Given the description of an element on the screen output the (x, y) to click on. 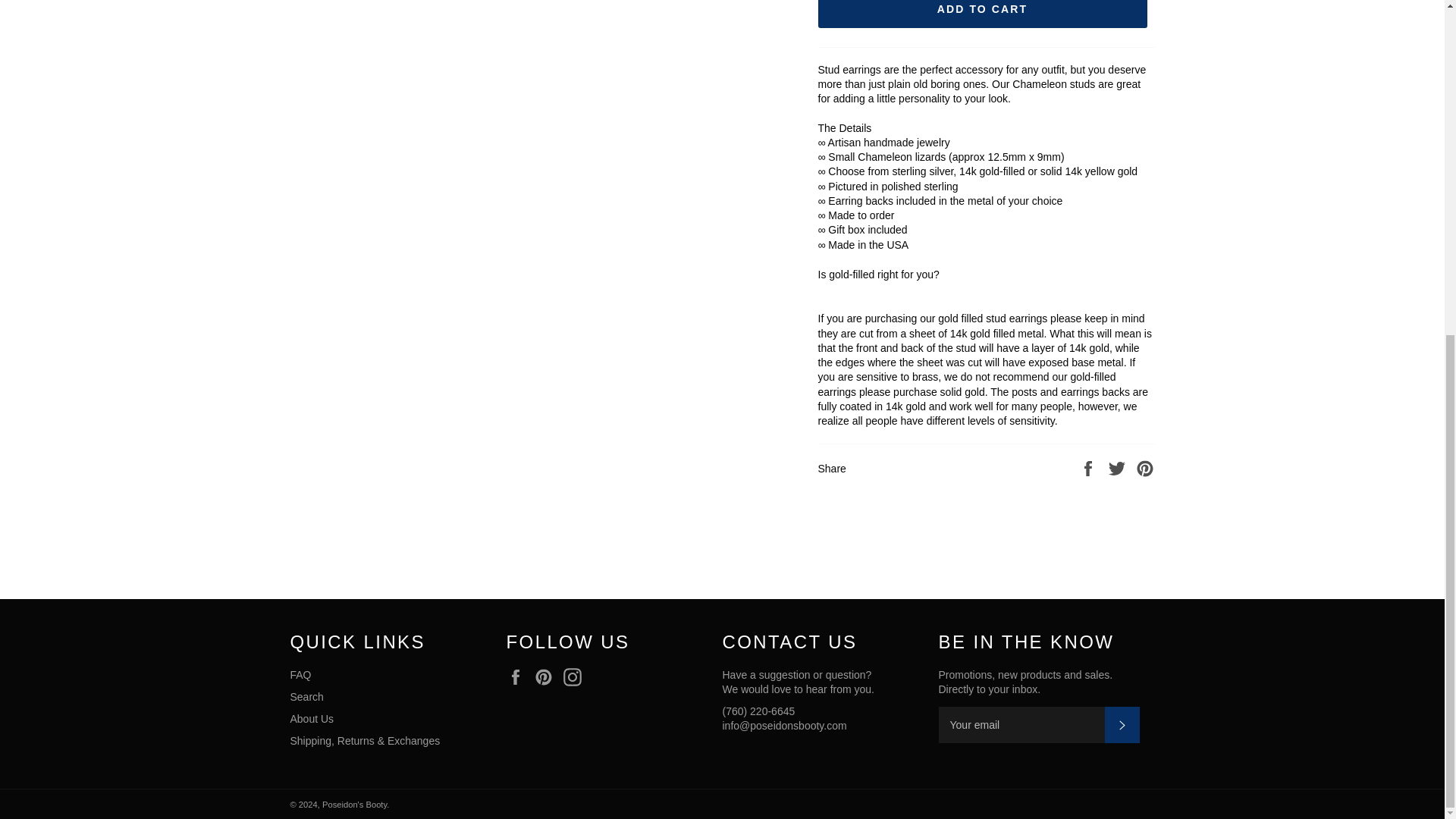
Pin on Pinterest (1144, 467)
Poseidon's Booty on Facebook (519, 677)
Poseidon's Booty on Instagram (576, 677)
Share on Facebook (1089, 467)
Tweet on Twitter (1118, 467)
Poseidon's Booty on Pinterest (547, 677)
